Given the description of an element on the screen output the (x, y) to click on. 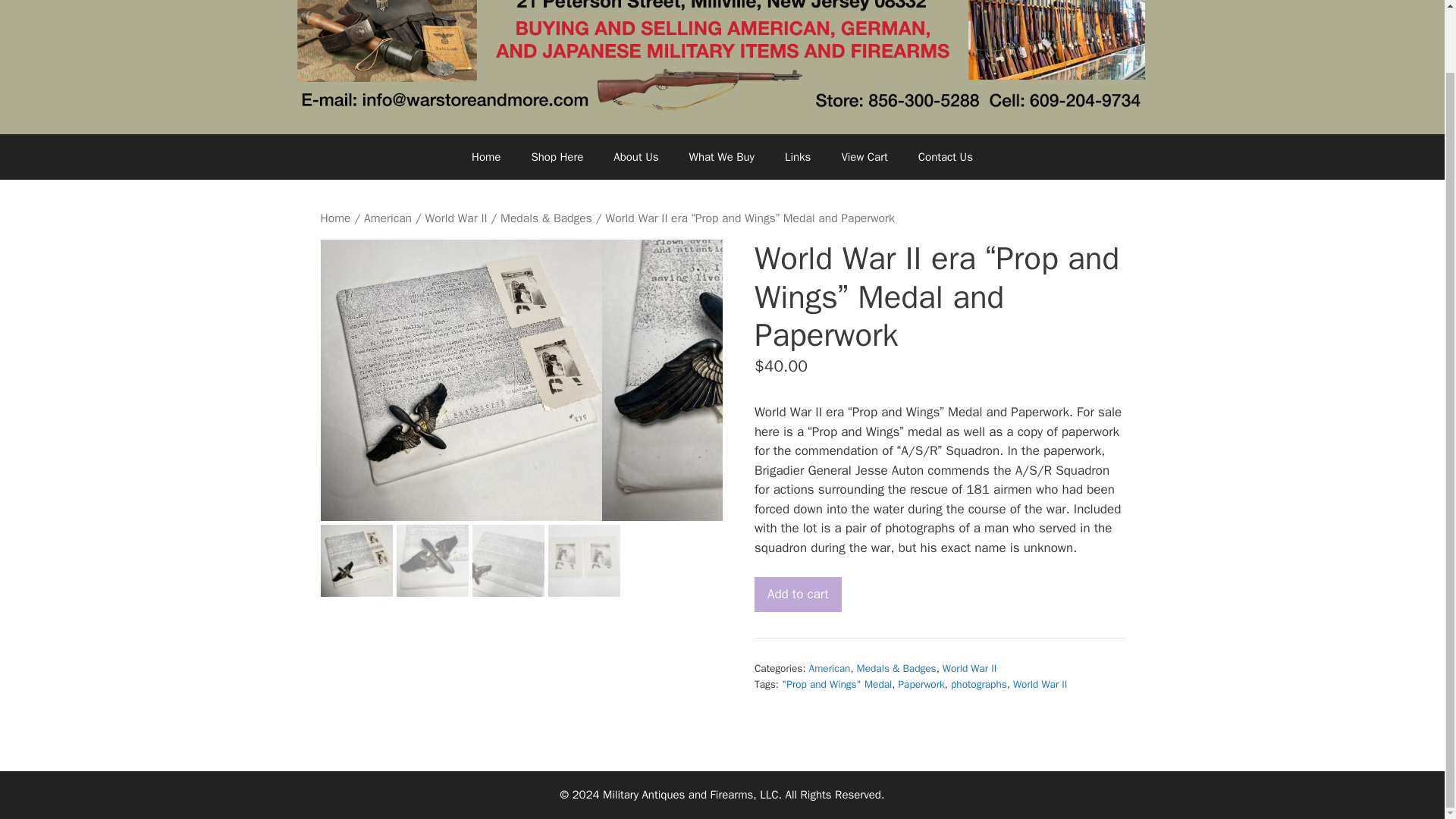
"Prop and Wings" Medal (836, 684)
World War II (455, 218)
World War II (1040, 684)
What We Buy (722, 156)
View Cart (863, 156)
Add to cart (797, 594)
Paperwork (920, 684)
Home (335, 218)
Shop Here (556, 156)
About Us (635, 156)
American (829, 667)
American (388, 218)
photographs (978, 684)
World War II (968, 667)
Contact Us (945, 156)
